Given the description of an element on the screen output the (x, y) to click on. 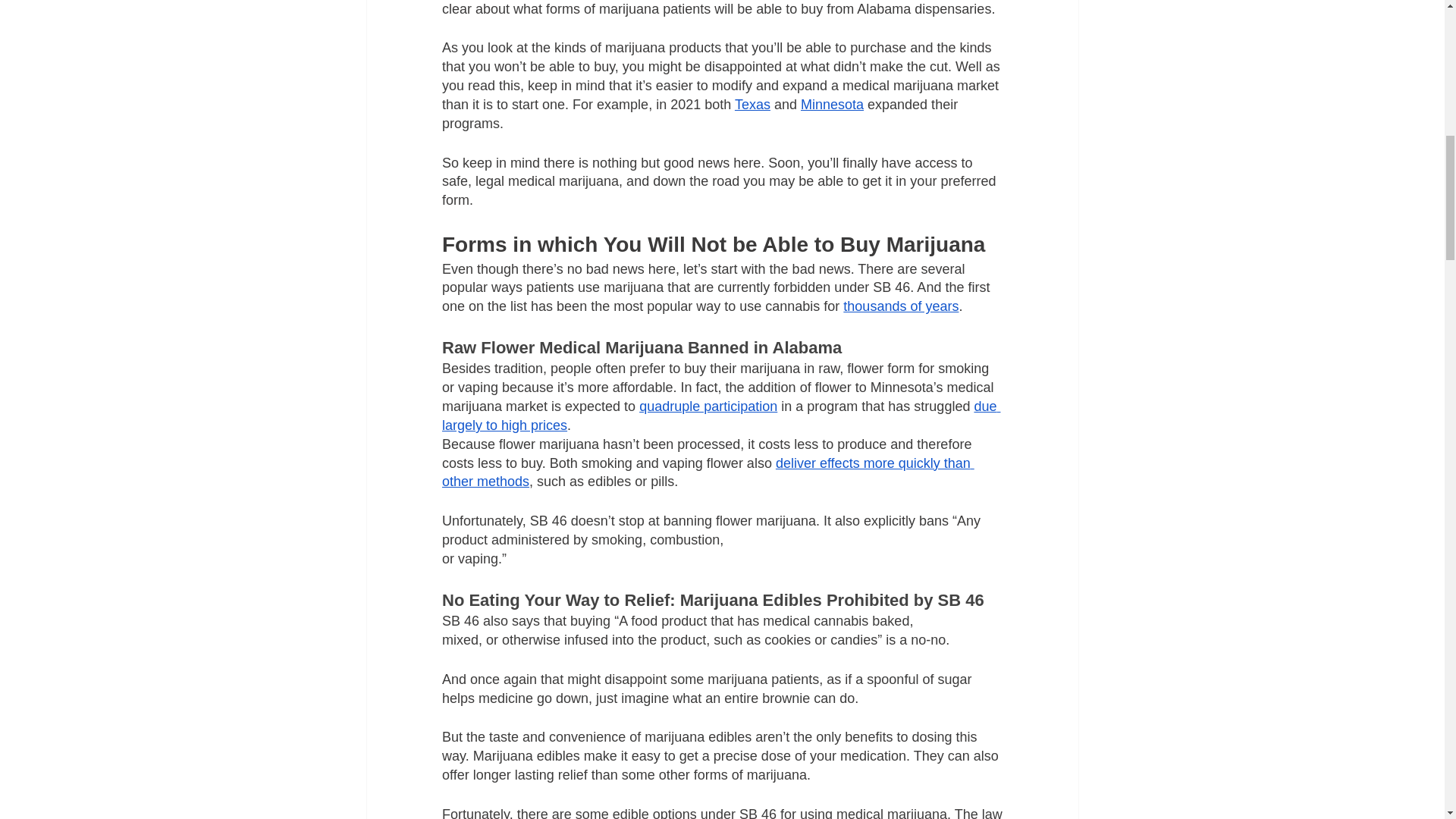
Texas (751, 104)
thousands of years (900, 305)
quadruple participation (708, 406)
due largely to high prices (719, 415)
deliver effects more quickly than other methods (707, 472)
Minnesota (831, 104)
